Given the description of an element on the screen output the (x, y) to click on. 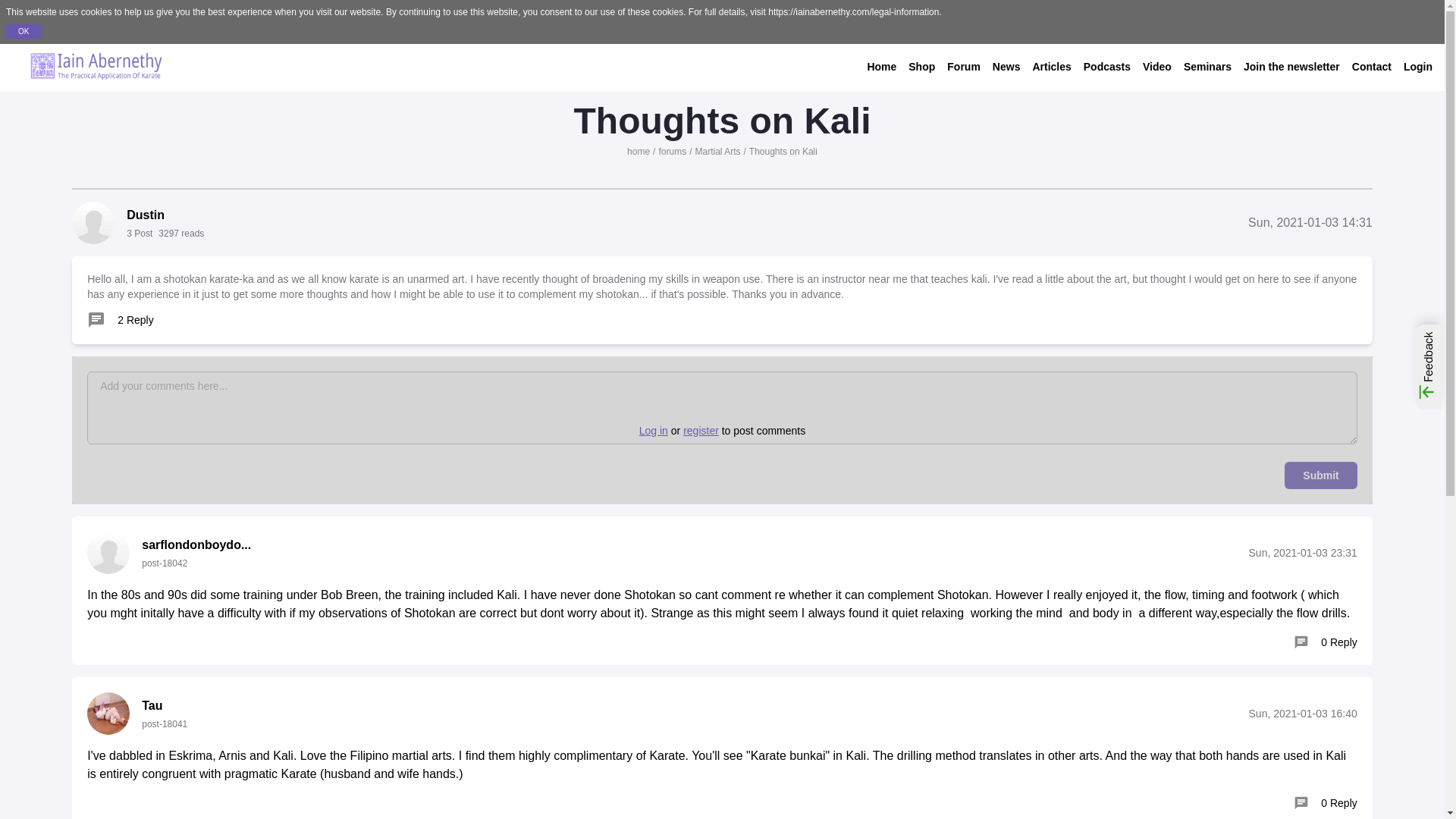
OK (22, 31)
0 Reply (1325, 642)
News (1006, 66)
Martial Arts (716, 151)
Podcasts (1107, 66)
Join the newsletter (1291, 66)
Contact (1371, 66)
0 Reply (1325, 802)
Video (1157, 66)
home (638, 151)
Forum (963, 66)
Submit (1320, 474)
Home (881, 66)
Thoughts on Kali (782, 151)
Articles (1051, 66)
